Given the description of an element on the screen output the (x, y) to click on. 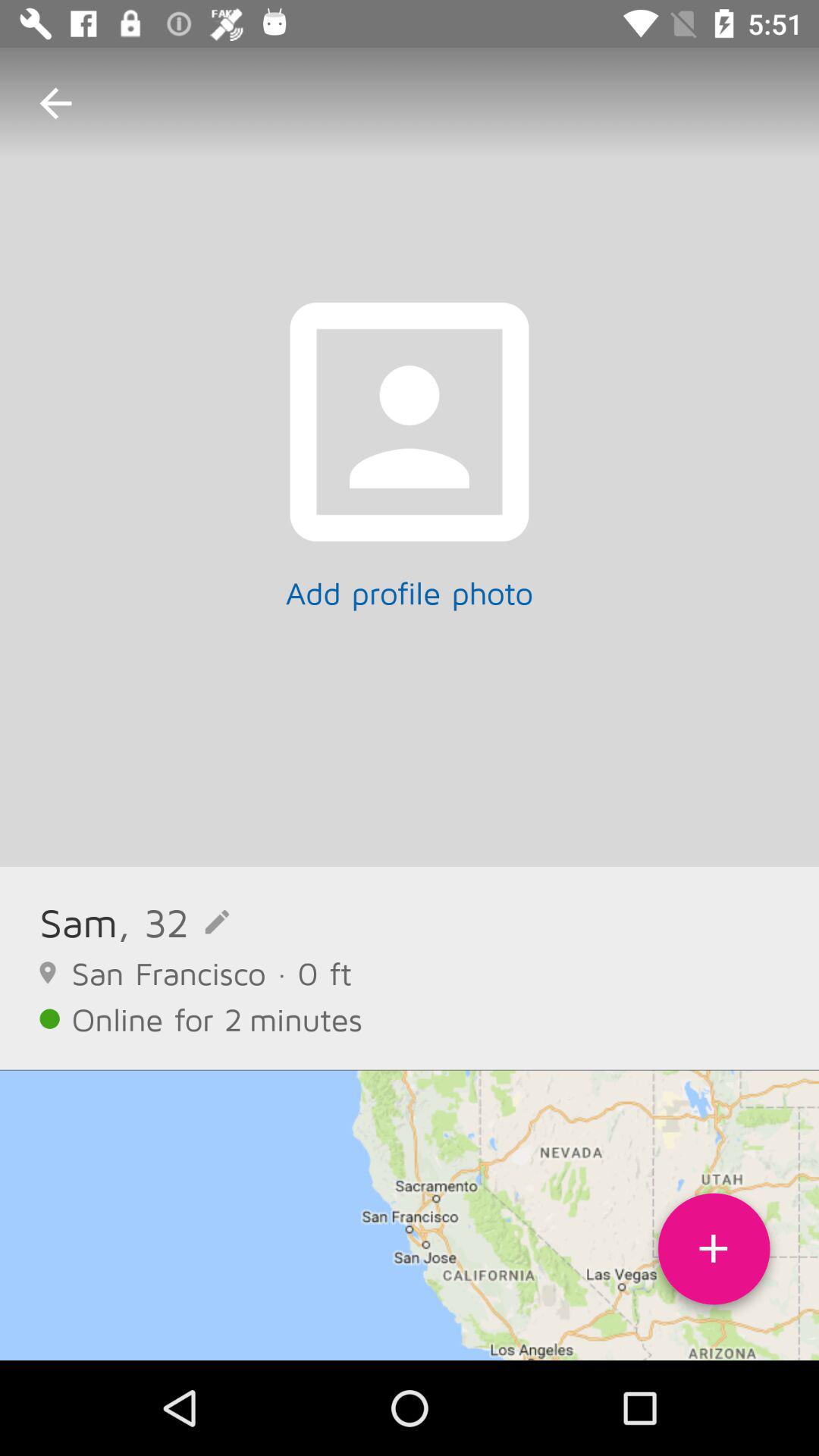
choose item next to , 32 item (78, 921)
